Given the description of an element on the screen output the (x, y) to click on. 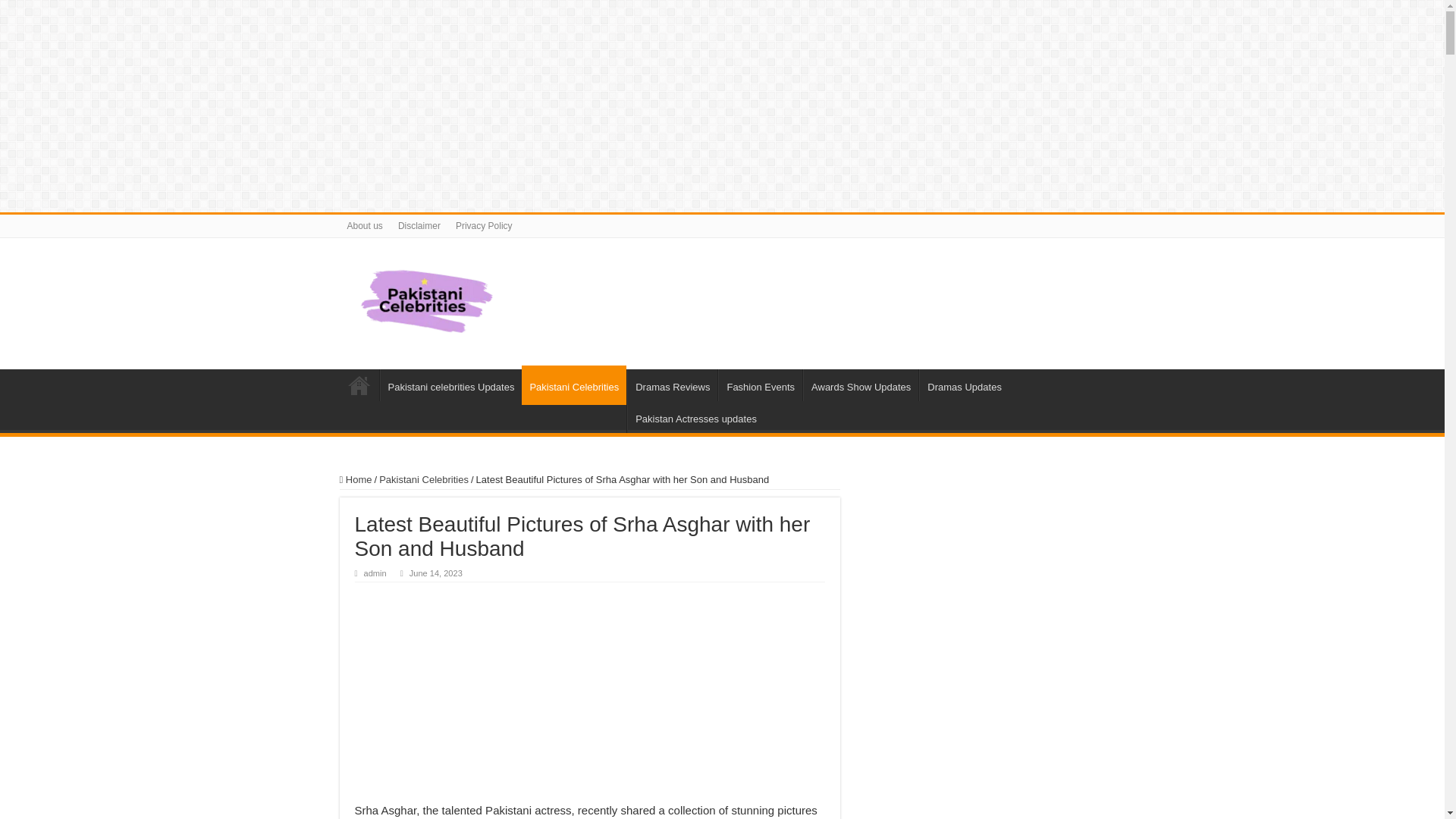
Pakistan Actresses updates (695, 417)
Dramas Updates (963, 385)
Pakistani Dramas Celebrities (426, 300)
Pakistani Celebrities (423, 479)
About us (364, 225)
Privacy Policy (483, 225)
Home (355, 479)
admin (375, 573)
Fashion Events (759, 385)
Disclaimer (419, 225)
Pakistani Celebrities (573, 384)
Pakistani celebrities Updates (449, 385)
Dramas Reviews (672, 385)
Awards Show Updates (860, 385)
